Given the description of an element on the screen output the (x, y) to click on. 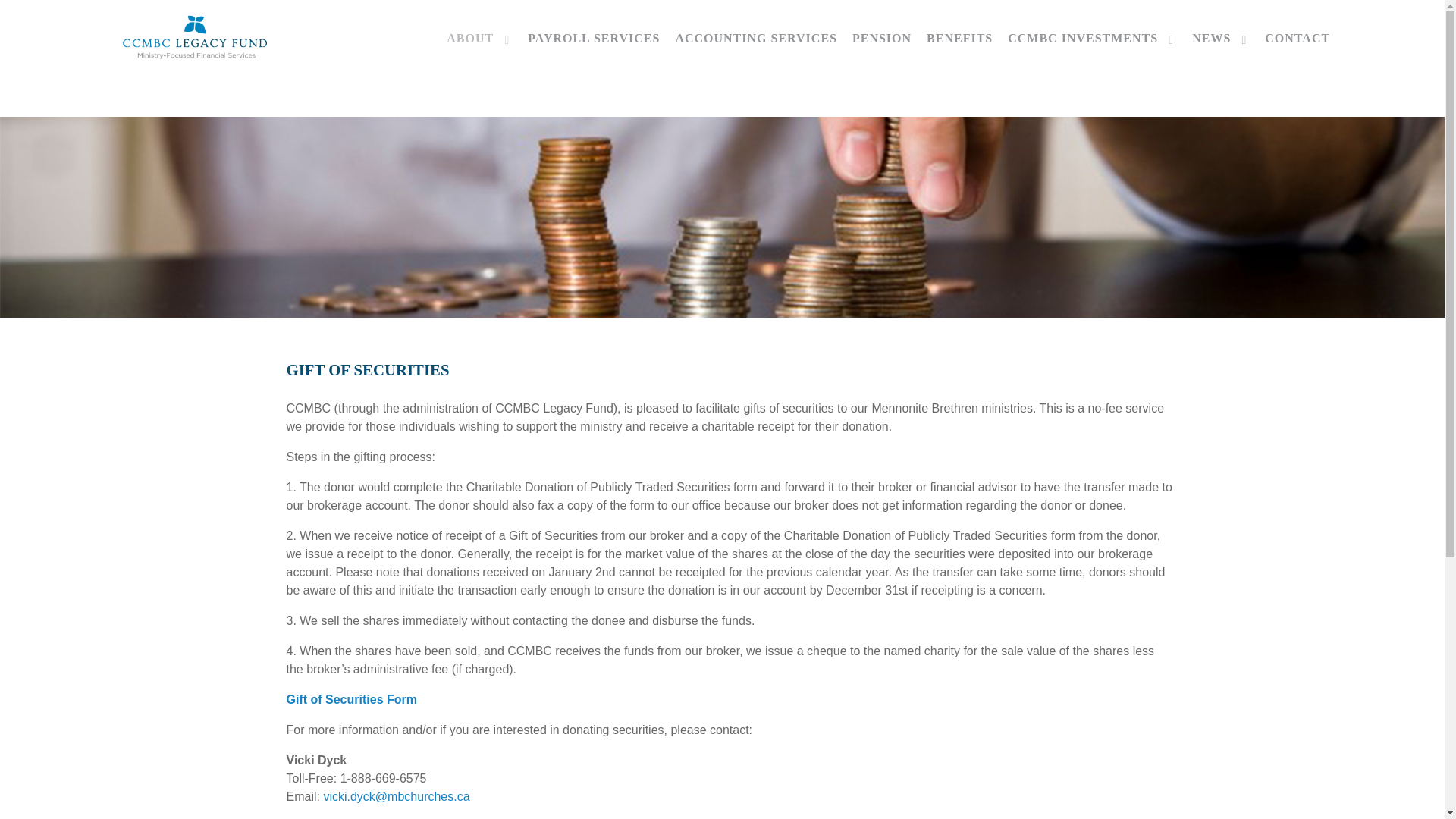
Gift of Securities Form (351, 698)
PAYROLL SERVICES (593, 38)
BENEFITS (959, 38)
PENSION (881, 38)
CONTACT (1297, 38)
ABOUT (479, 38)
CCMBC INVESTMENTS (1091, 38)
ACCOUNTING SERVICES (756, 38)
NEWS (1220, 38)
